Given the description of an element on the screen output the (x, y) to click on. 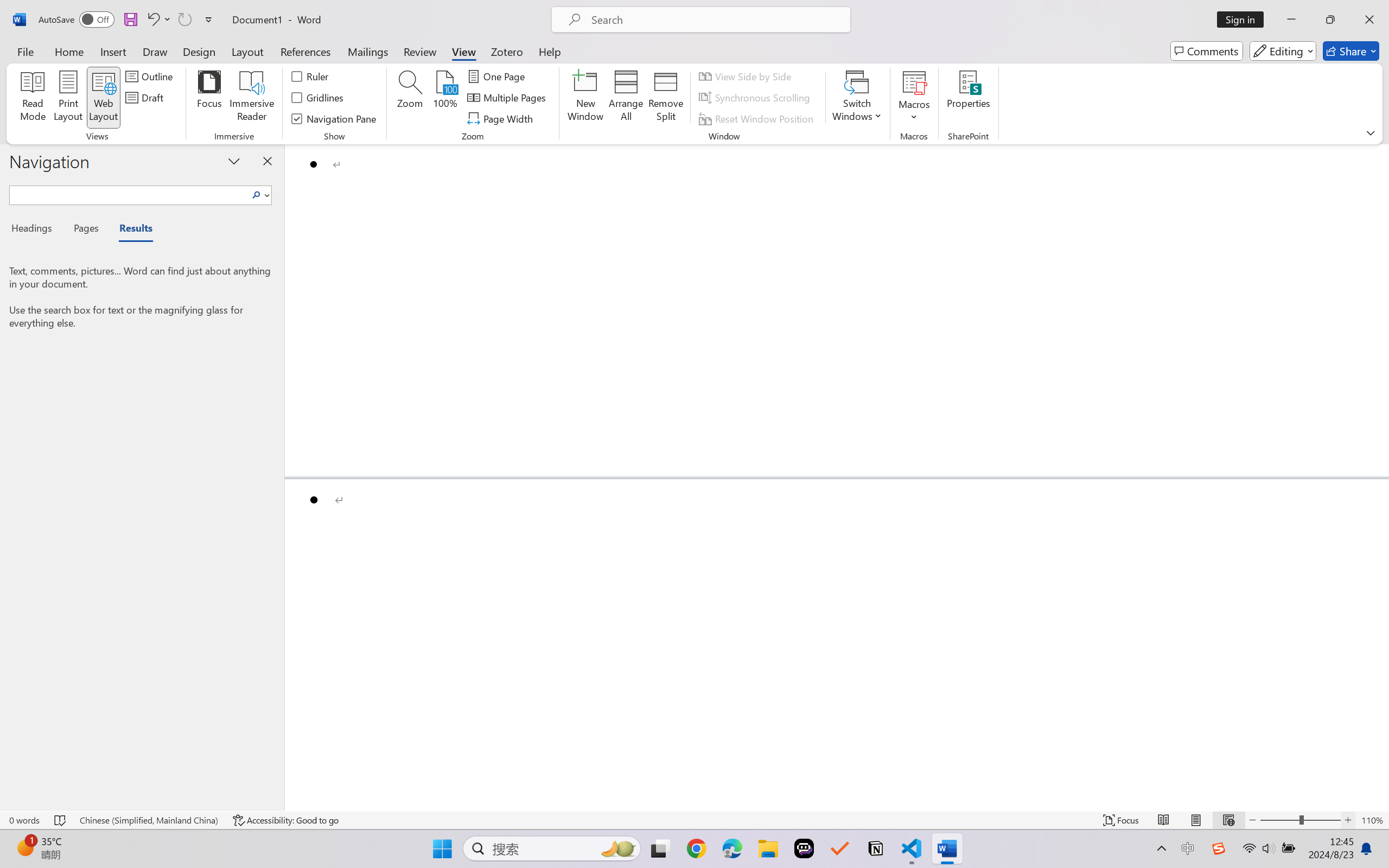
Remove Split (665, 97)
Zoom... (409, 97)
